Given the description of an element on the screen output the (x, y) to click on. 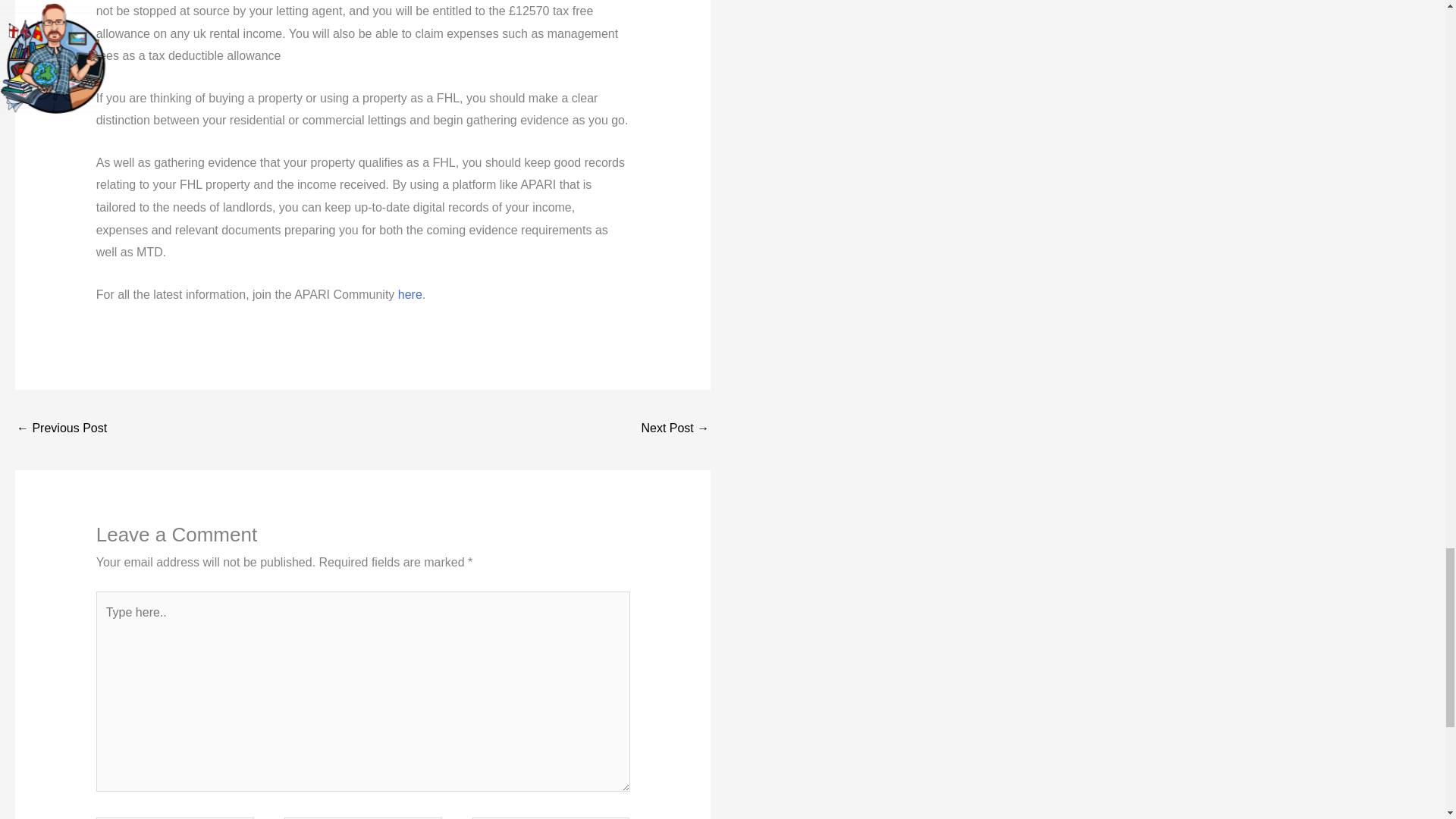
here (408, 294)
